Given the description of an element on the screen output the (x, y) to click on. 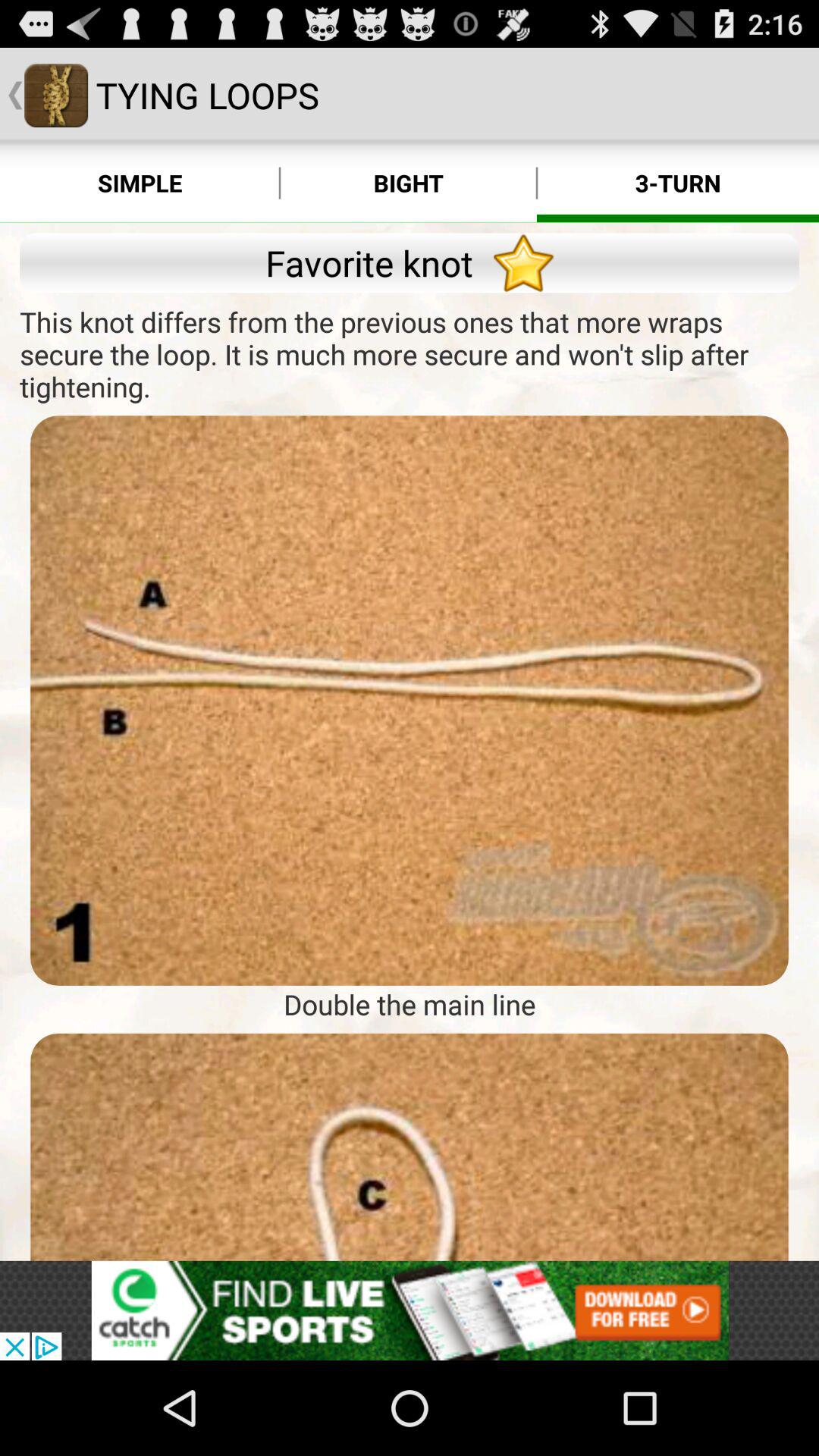
open advertisement (409, 1310)
